Given the description of an element on the screen output the (x, y) to click on. 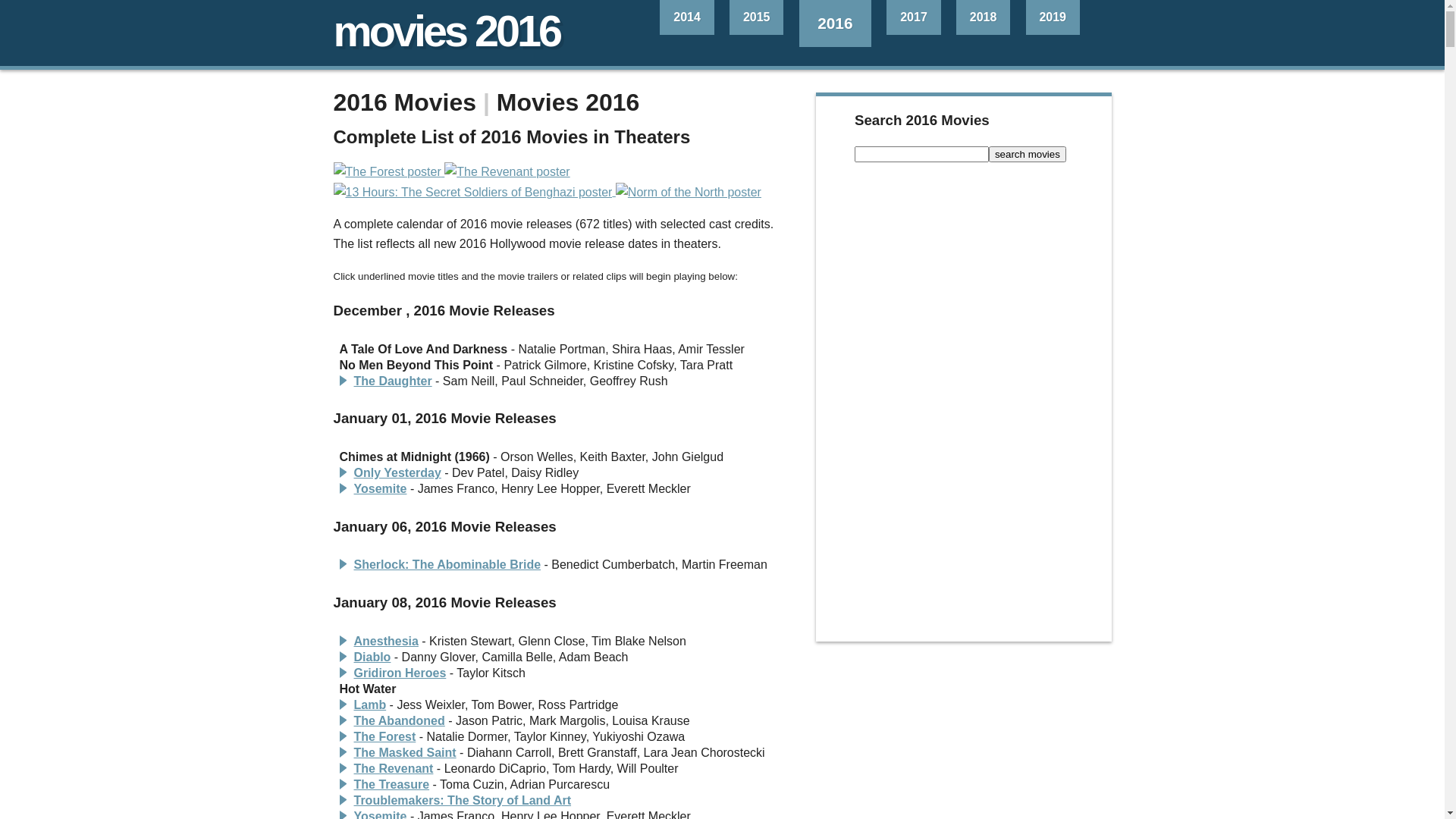
Gridiron Heroes Element type: text (399, 672)
Advertisement Element type: hover (963, 405)
The Abandoned Element type: text (398, 720)
The Masked Saint Element type: text (404, 752)
The Revenant Element type: text (393, 768)
Troublemakers: The Story of Land Art Element type: text (462, 799)
2018 Element type: text (983, 17)
search movies Element type: text (1027, 154)
2016 Element type: text (835, 23)
Anesthesia Element type: text (385, 640)
The Forest Element type: text (384, 736)
Diablo Element type: text (371, 656)
2017 Element type: text (913, 17)
The Daughter Element type: text (392, 380)
2014 Element type: text (686, 17)
Lamb Element type: text (369, 704)
2015 Element type: text (756, 17)
2019 Element type: text (1052, 17)
Sherlock: The Abominable Bride Element type: text (446, 564)
Yosemite Element type: text (379, 488)
Only Yesterday Element type: text (396, 472)
The Treasure Element type: text (391, 784)
